Given the description of an element on the screen output the (x, y) to click on. 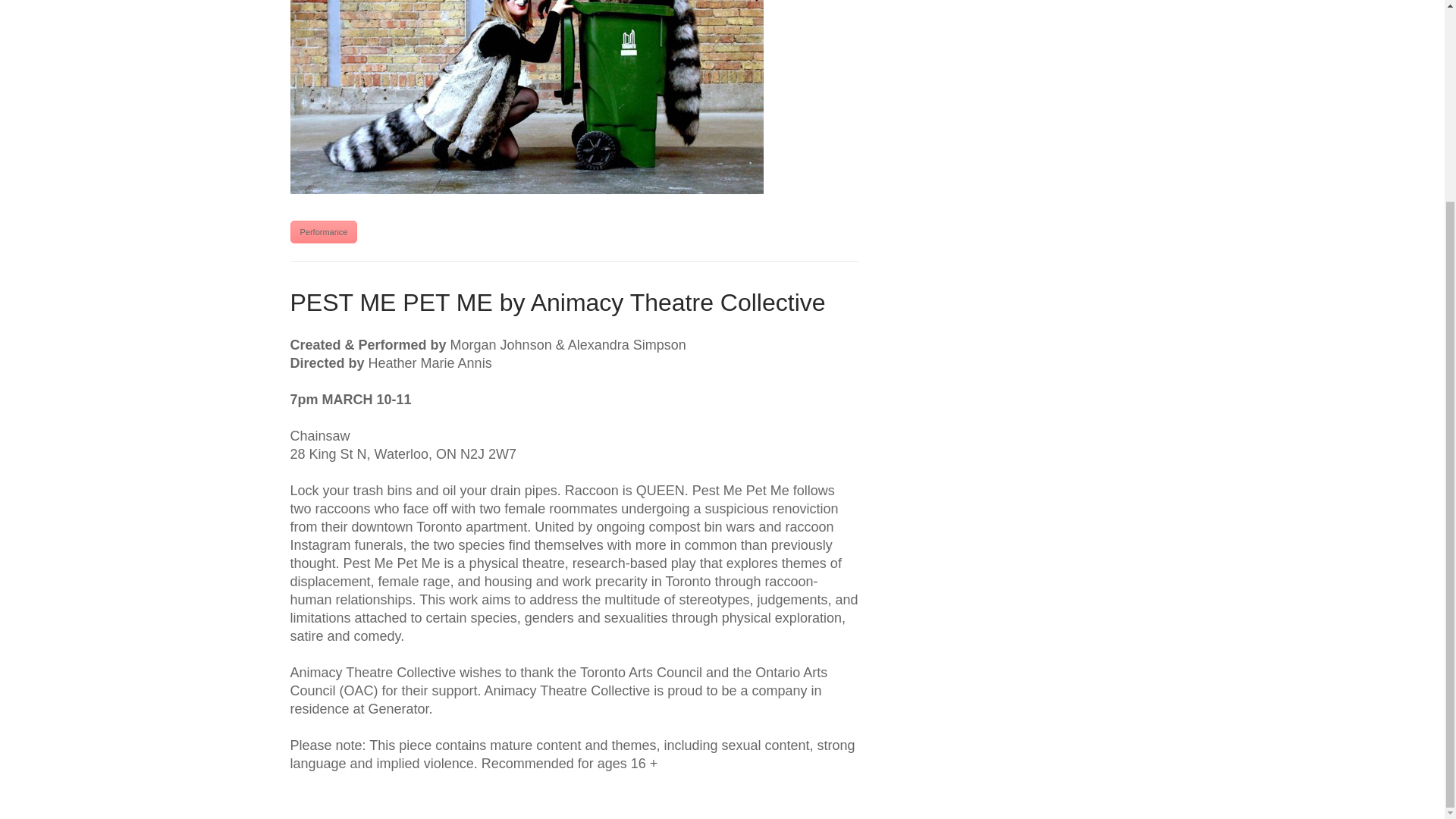
Performance (322, 231)
Picture1 (525, 97)
